Given the description of an element on the screen output the (x, y) to click on. 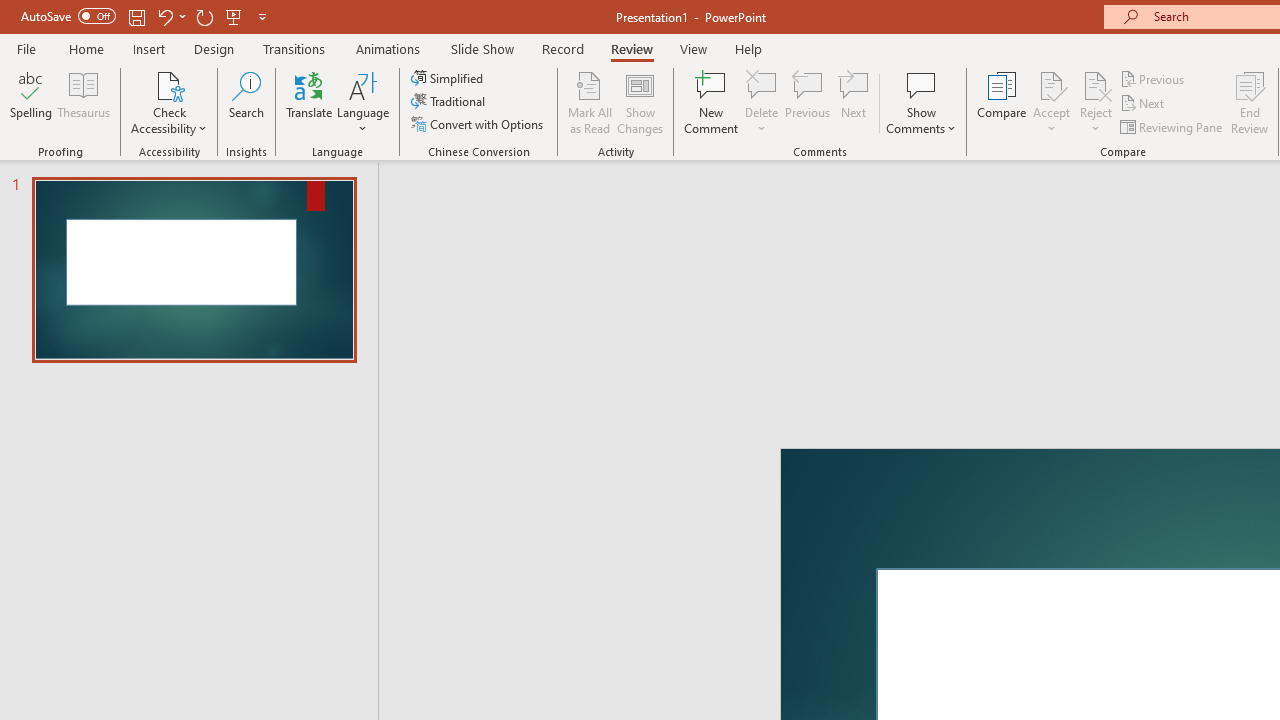
Compare (1002, 102)
Previous (1153, 78)
Traditional (449, 101)
Show Comments (921, 102)
Mark All as Read (589, 102)
Show Comments (921, 84)
Spelling... (31, 102)
